Given the description of an element on the screen output the (x, y) to click on. 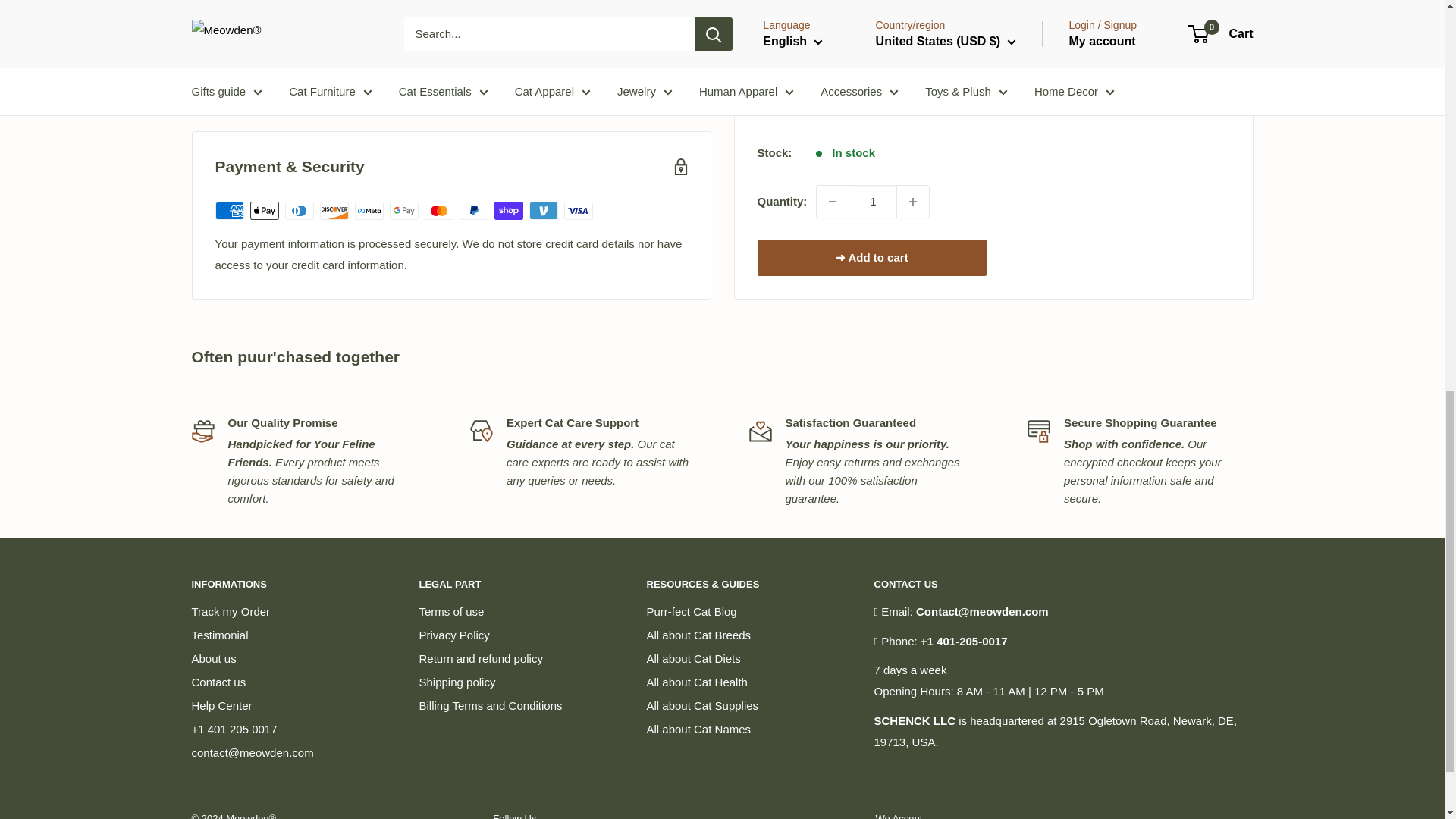
1 (872, 89)
